Given the description of an element on the screen output the (x, y) to click on. 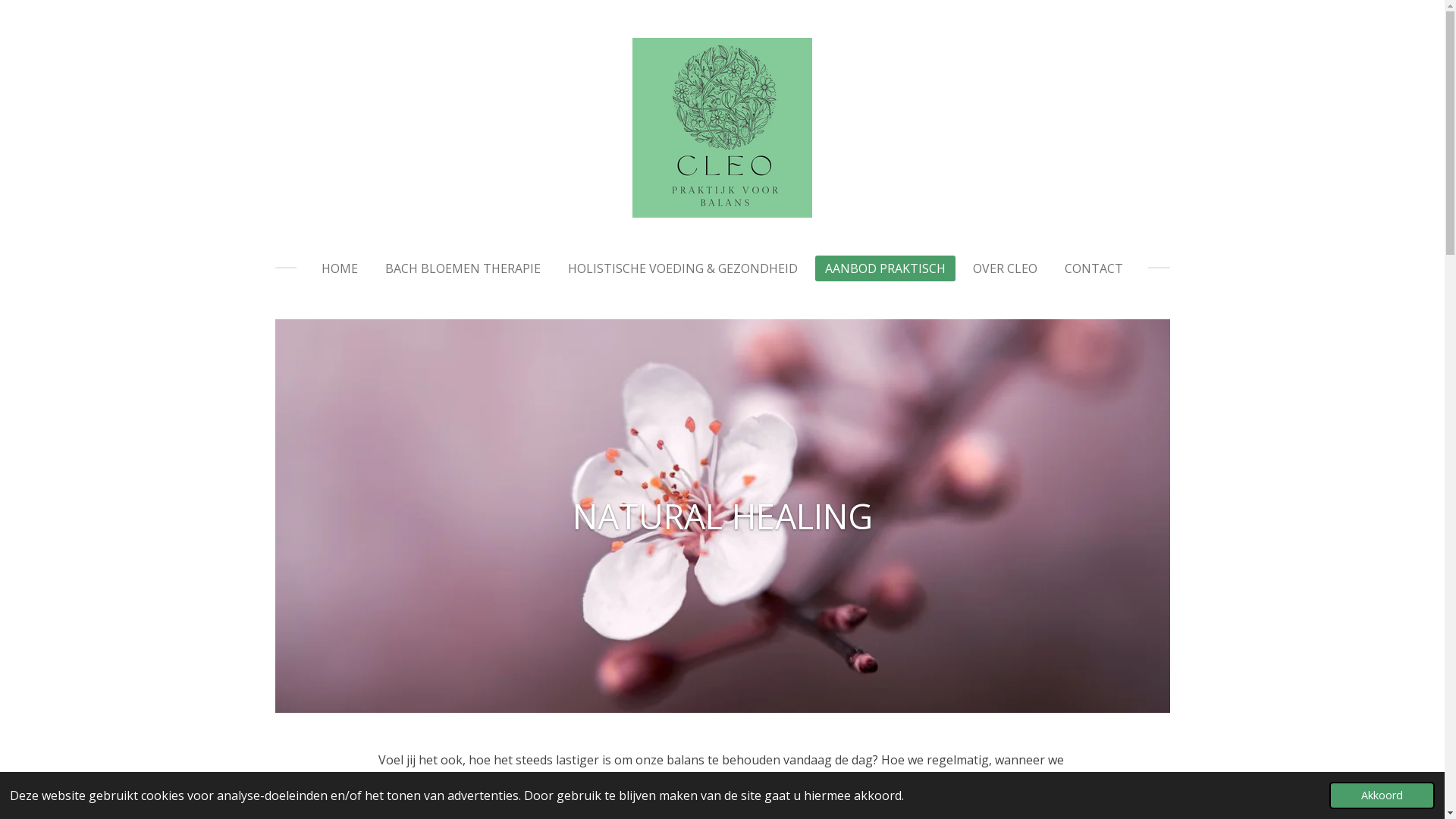
Cleopraktijkvoorbalans Element type: hover (722, 127)
HOLISTISCHE VOEDING & GEZONDHEID Element type: text (682, 268)
Akkoord Element type: text (1381, 795)
CONTACT Element type: text (1093, 268)
AANBOD PRAKTISCH Element type: text (885, 268)
BACH BLOEMEN THERAPIE Element type: text (462, 268)
OVER CLEO Element type: text (1005, 268)
HOME Element type: text (339, 268)
